Given the description of an element on the screen output the (x, y) to click on. 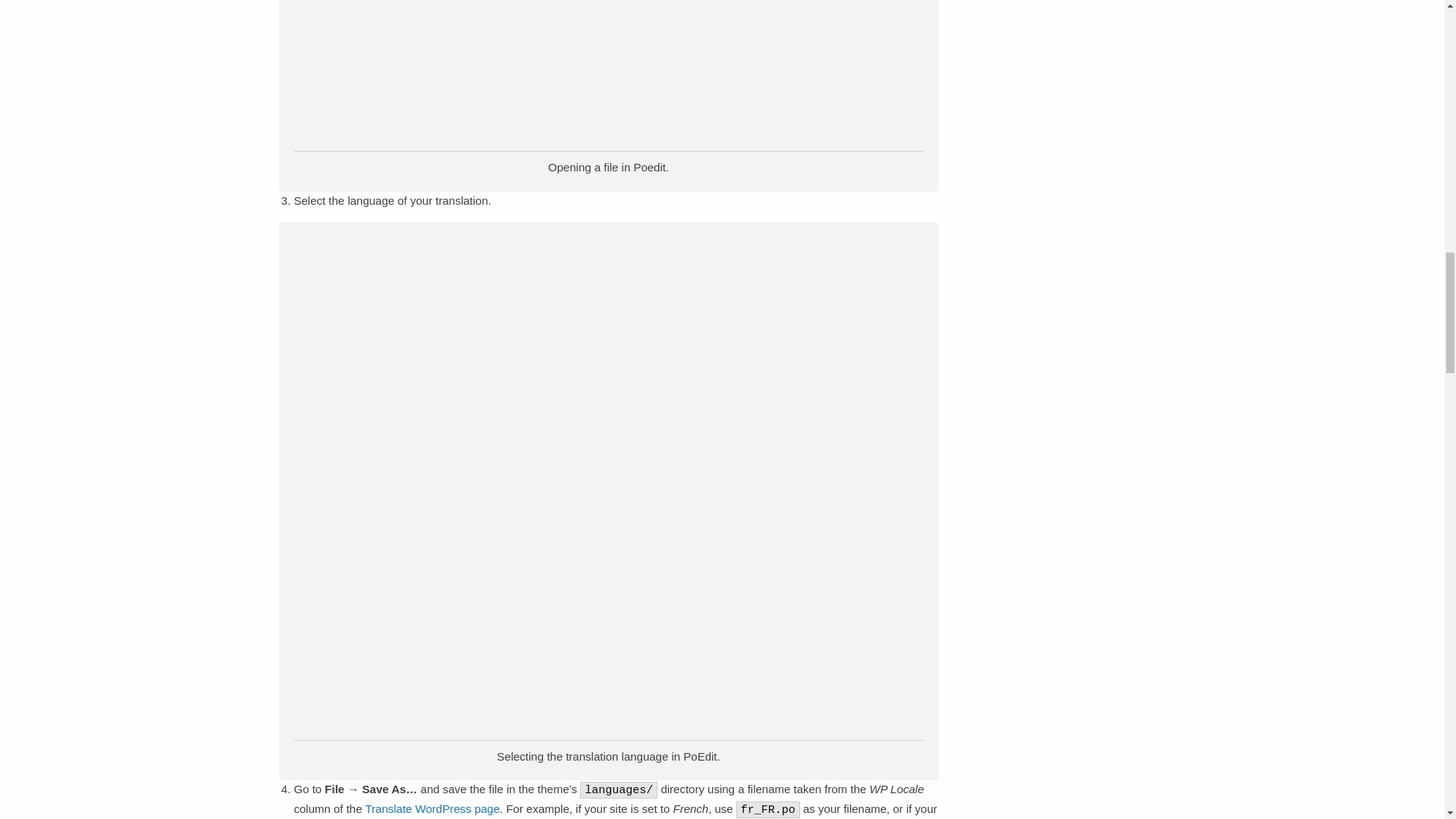
Translate WordPress page (432, 808)
